Given the description of an element on the screen output the (x, y) to click on. 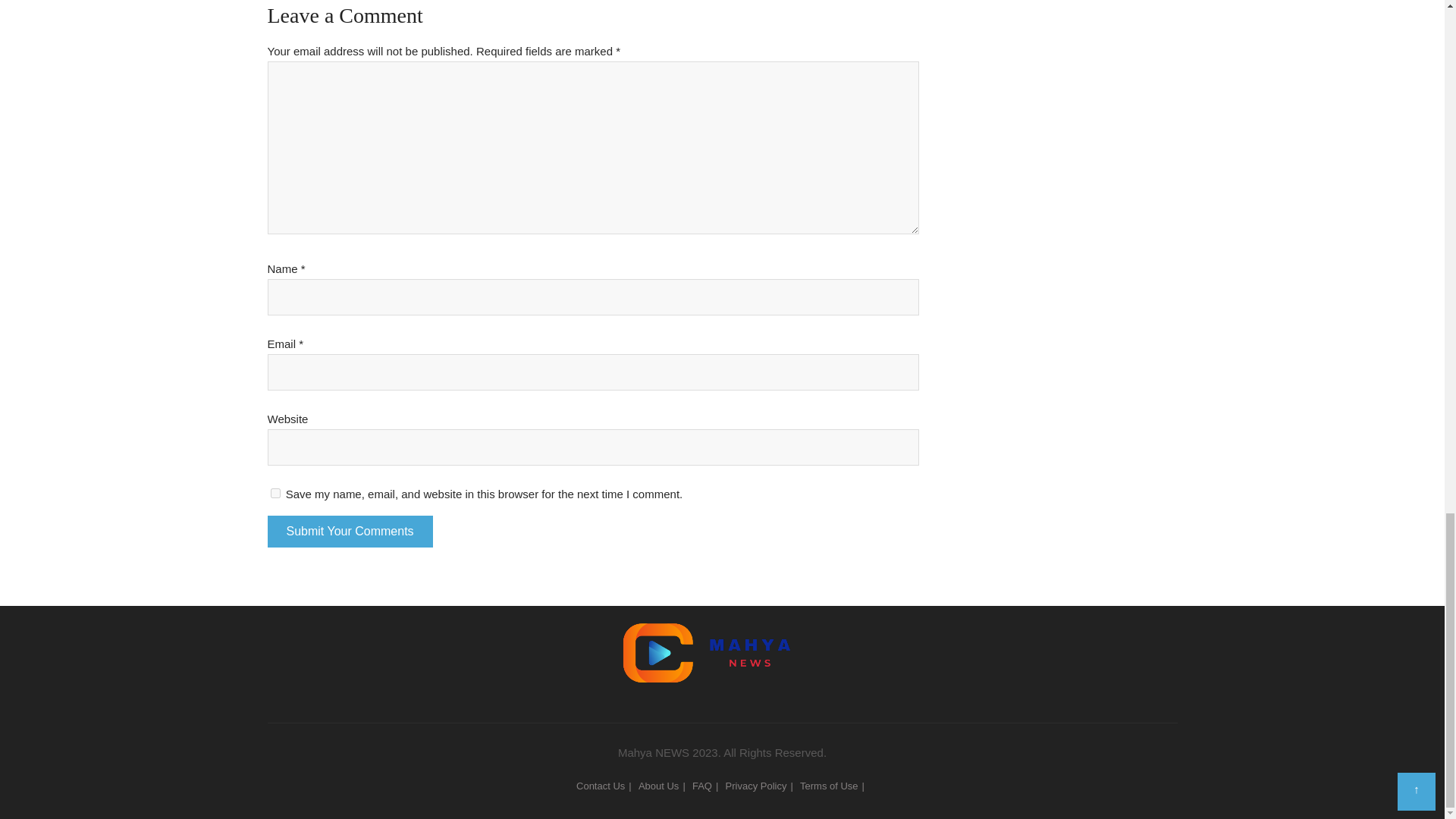
Mahya News (722, 640)
yes (274, 492)
Submit Your Comments (349, 531)
Submit Your Comments (349, 531)
